Given the description of an element on the screen output the (x, y) to click on. 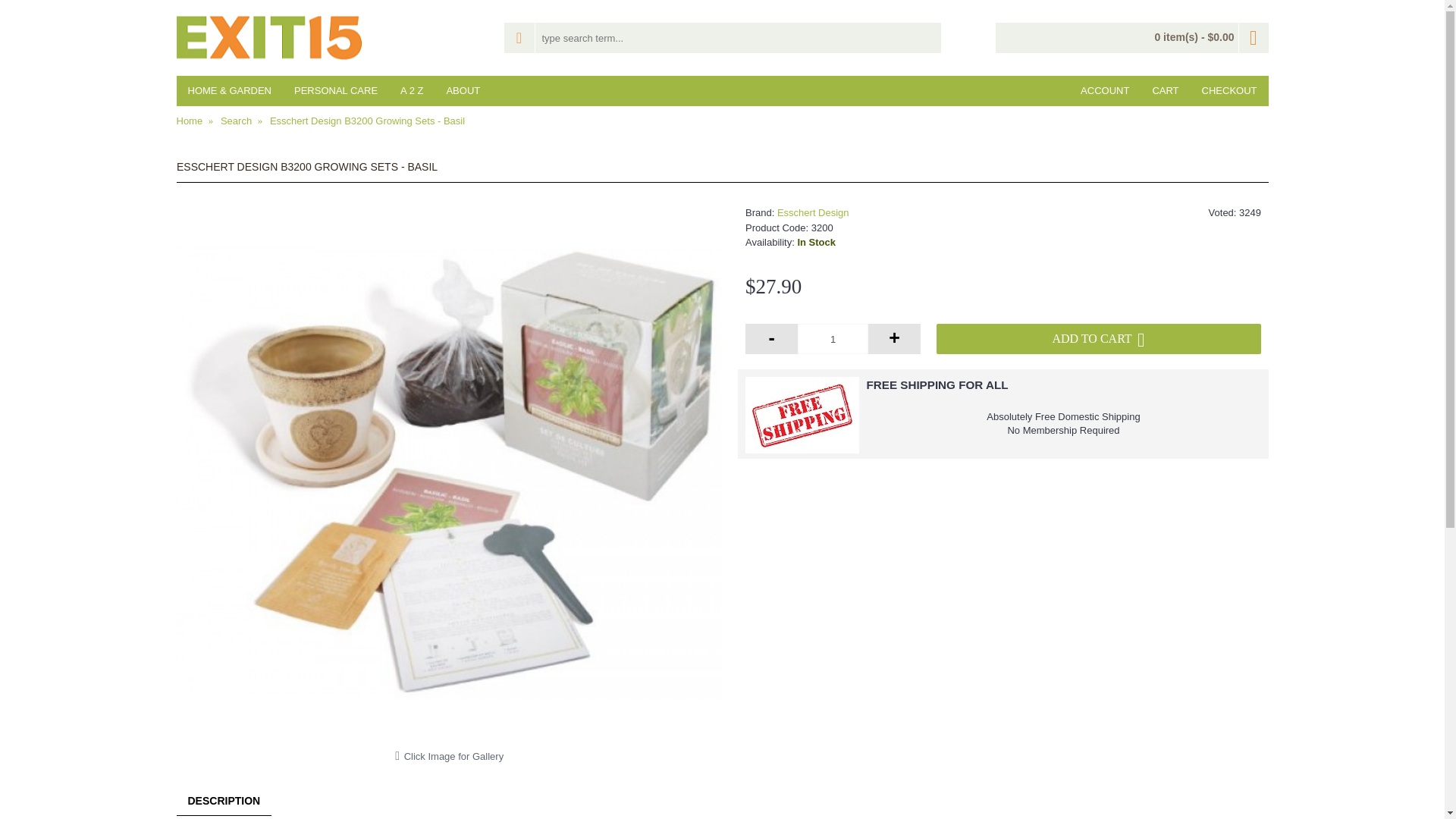
1 (832, 338)
Exit 15 Corporation (268, 37)
